Given the description of an element on the screen output the (x, y) to click on. 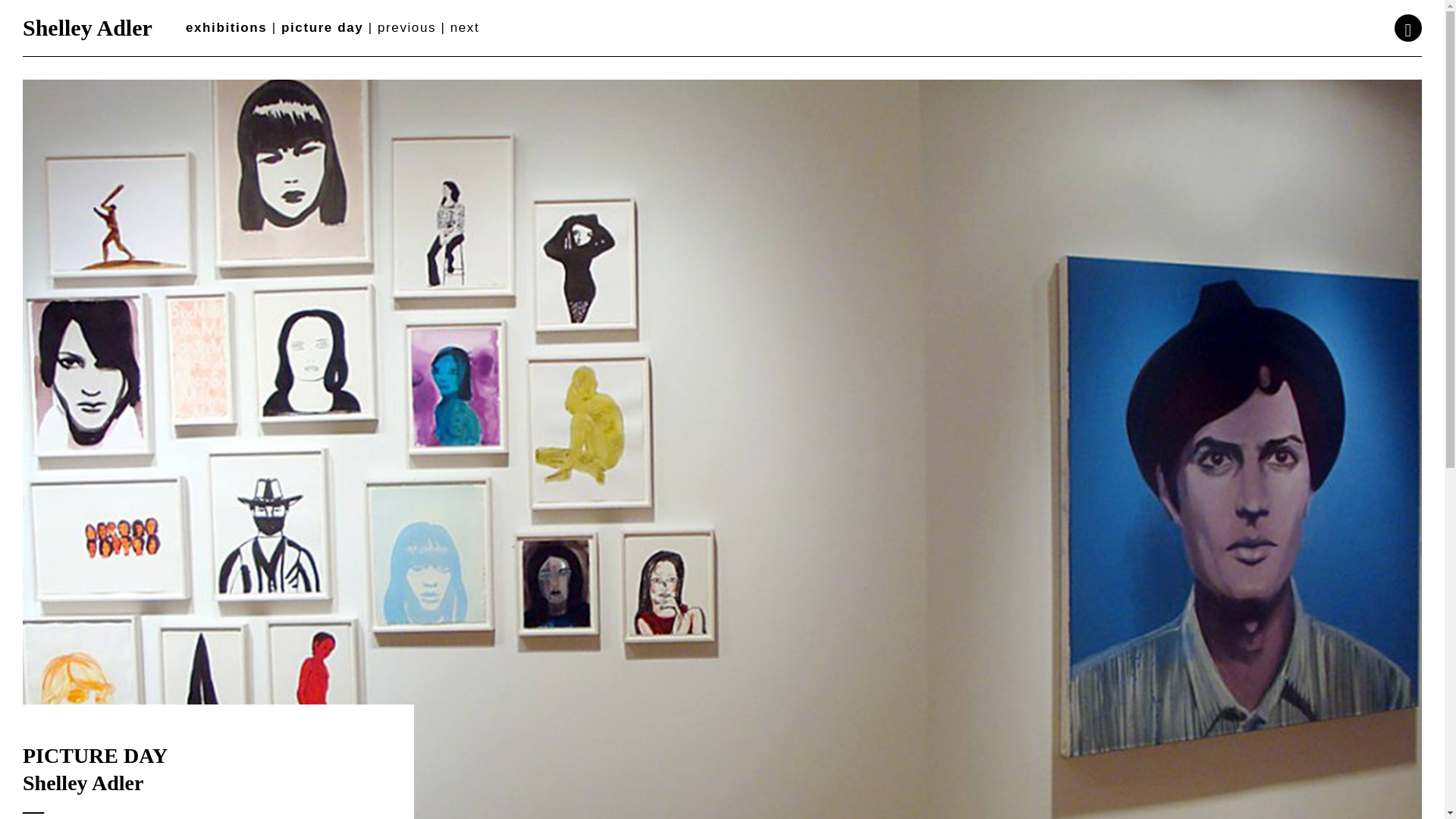
exhibitions (226, 27)
Shelley Adler (87, 27)
next (464, 27)
previous (406, 27)
